Given the description of an element on the screen output the (x, y) to click on. 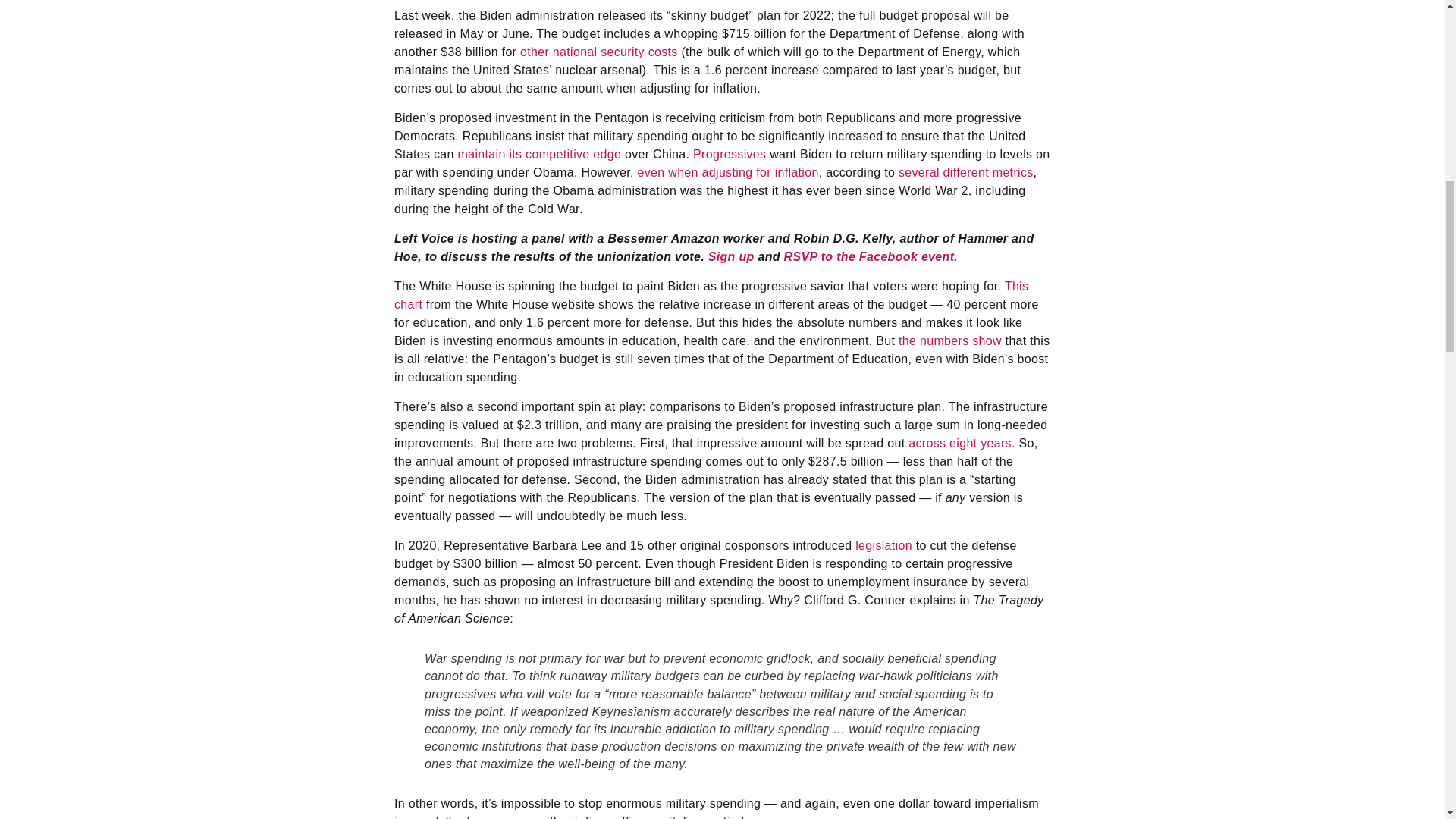
Progressives (729, 154)
other national security costs (598, 51)
even when adjusting for inflation (727, 172)
maintain its competitive edge (539, 154)
